Given the description of an element on the screen output the (x, y) to click on. 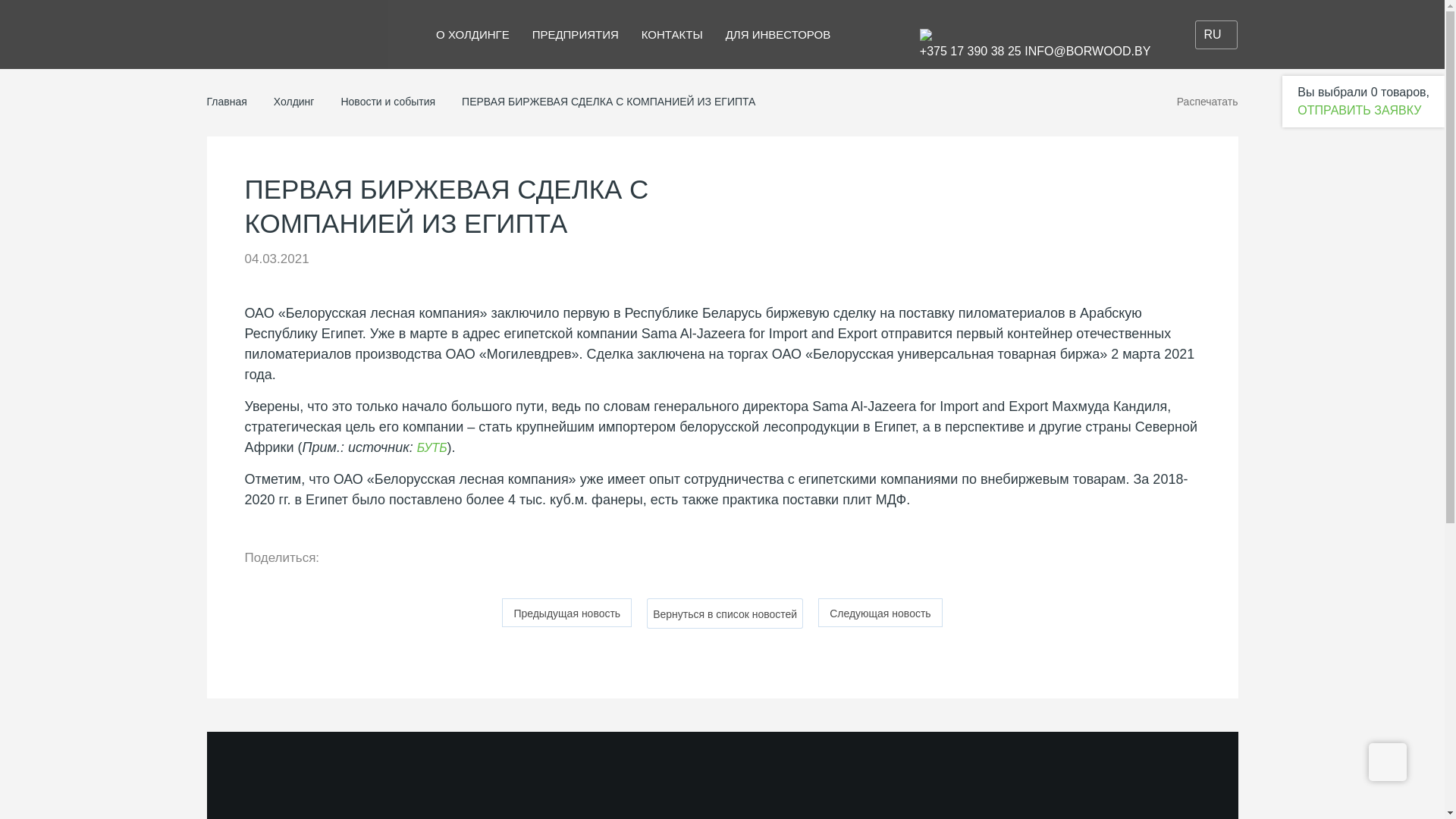
+375 17 390 38 25 Element type: text (970, 50)
INFO@BORWOOD.BY Element type: text (1087, 50)
